Given the description of an element on the screen output the (x, y) to click on. 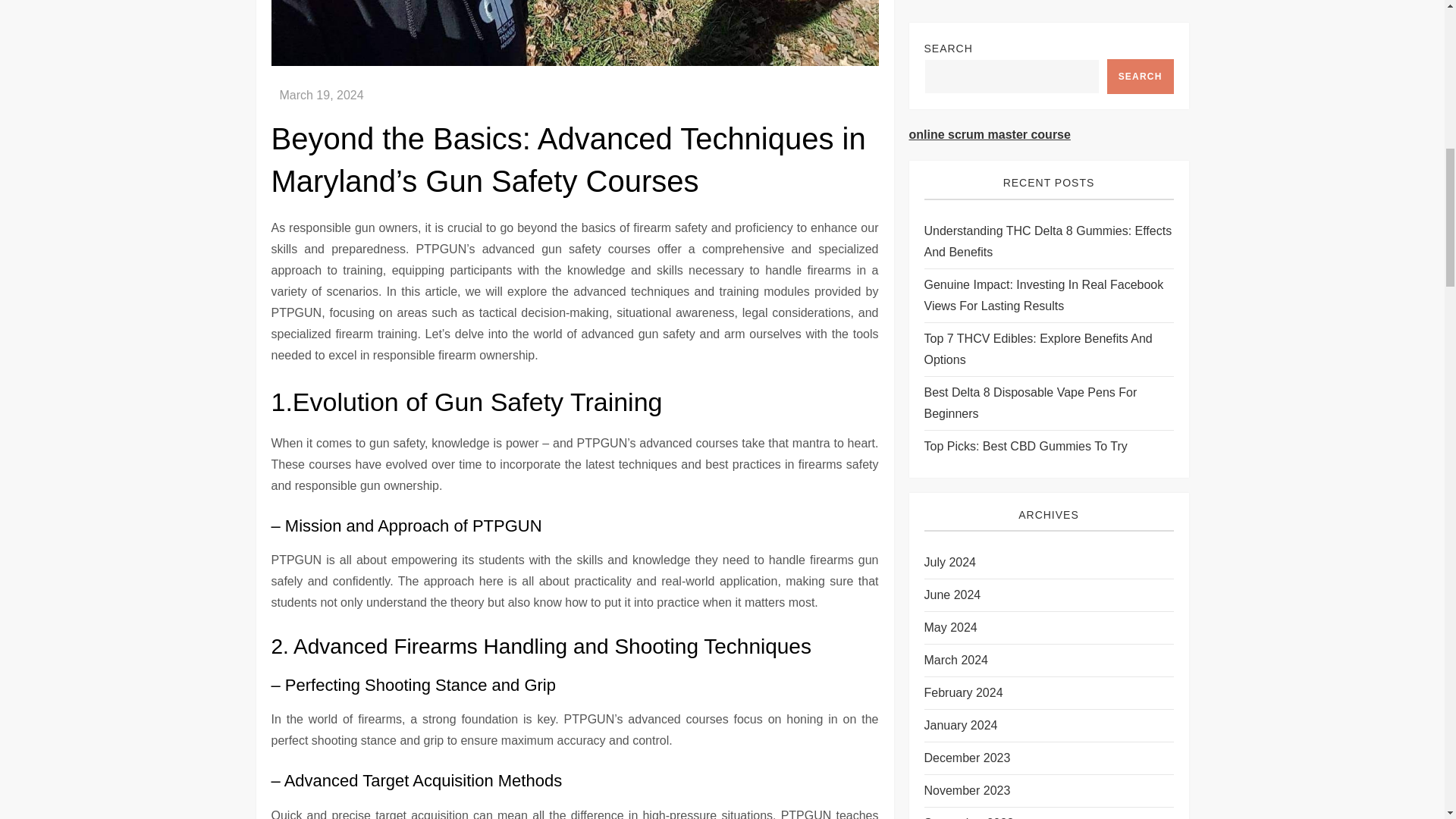
June 2024 (951, 15)
January 2024 (960, 146)
December 2023 (966, 178)
March 2024 (955, 80)
March 19, 2024 (320, 94)
February 2024 (963, 113)
May 2024 (949, 47)
